Given the description of an element on the screen output the (x, y) to click on. 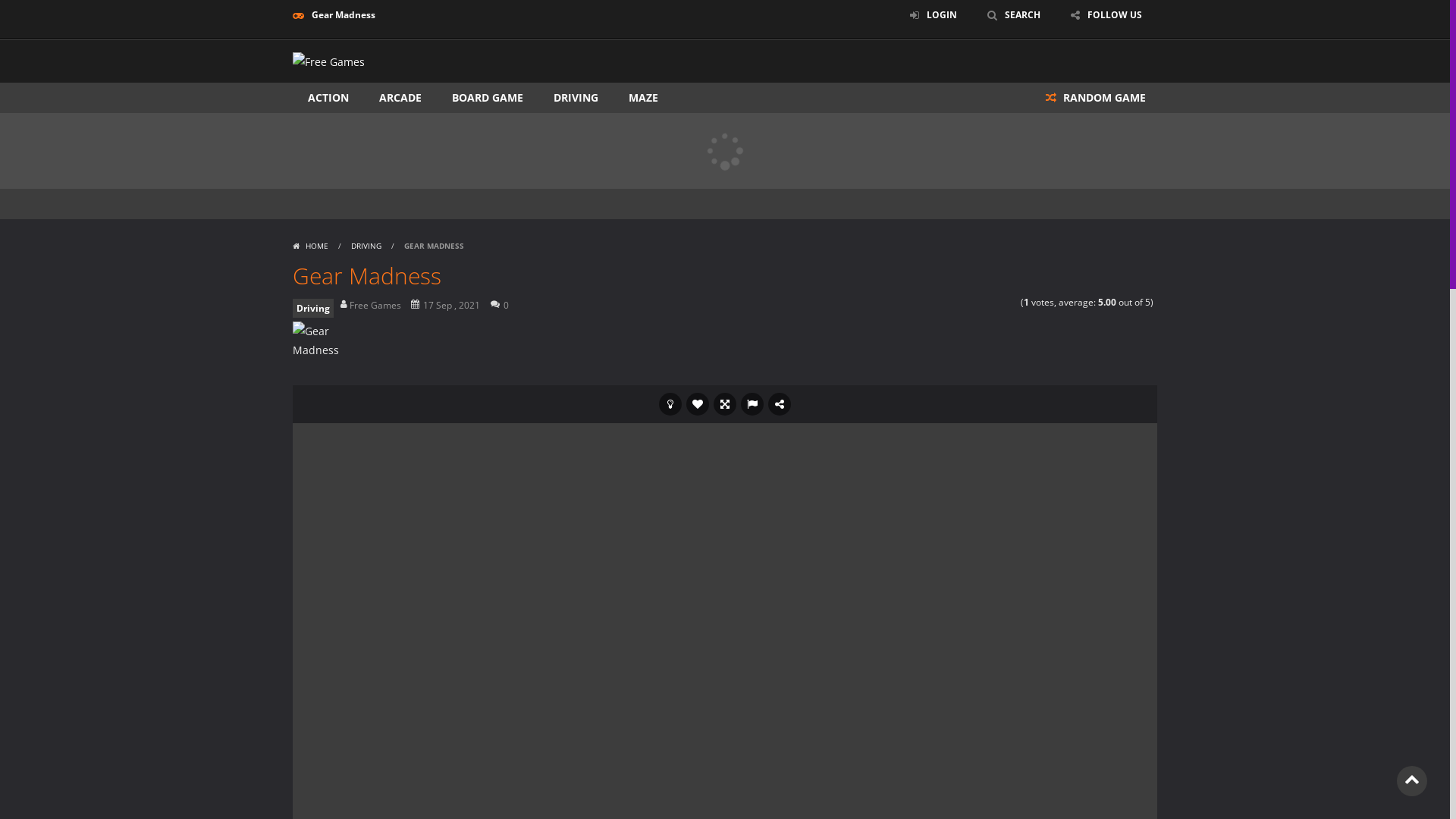
Driving Element type: text (312, 307)
Back to Top Element type: hover (1411, 780)
BOARD GAME Element type: text (487, 97)
Free Games Element type: hover (328, 60)
ACTION Element type: text (328, 97)
LOGIN Element type: text (933, 15)
Turn lights on/off Element type: hover (669, 403)
4 Stars Element type: hover (1003, 302)
Free Games Element type: hover (328, 61)
DRIVING Element type: text (366, 245)
MAZE Element type: text (643, 97)
HOME Element type: text (311, 245)
1 Star Element type: hover (974, 302)
3 Stars Element type: hover (993, 302)
DRIVING Element type: text (575, 97)
ARCADE Element type: text (400, 97)
RANDOM GAME Element type: text (1095, 97)
Play in fullscreen Element type: hover (724, 403)
5 Stars Element type: hover (1013, 302)
FOLLOW US Element type: text (1106, 15)
2 Stars Element type: hover (983, 302)
Free Games Element type: text (371, 304)
SEARCH Element type: text (1013, 15)
